Given the description of an element on the screen output the (x, y) to click on. 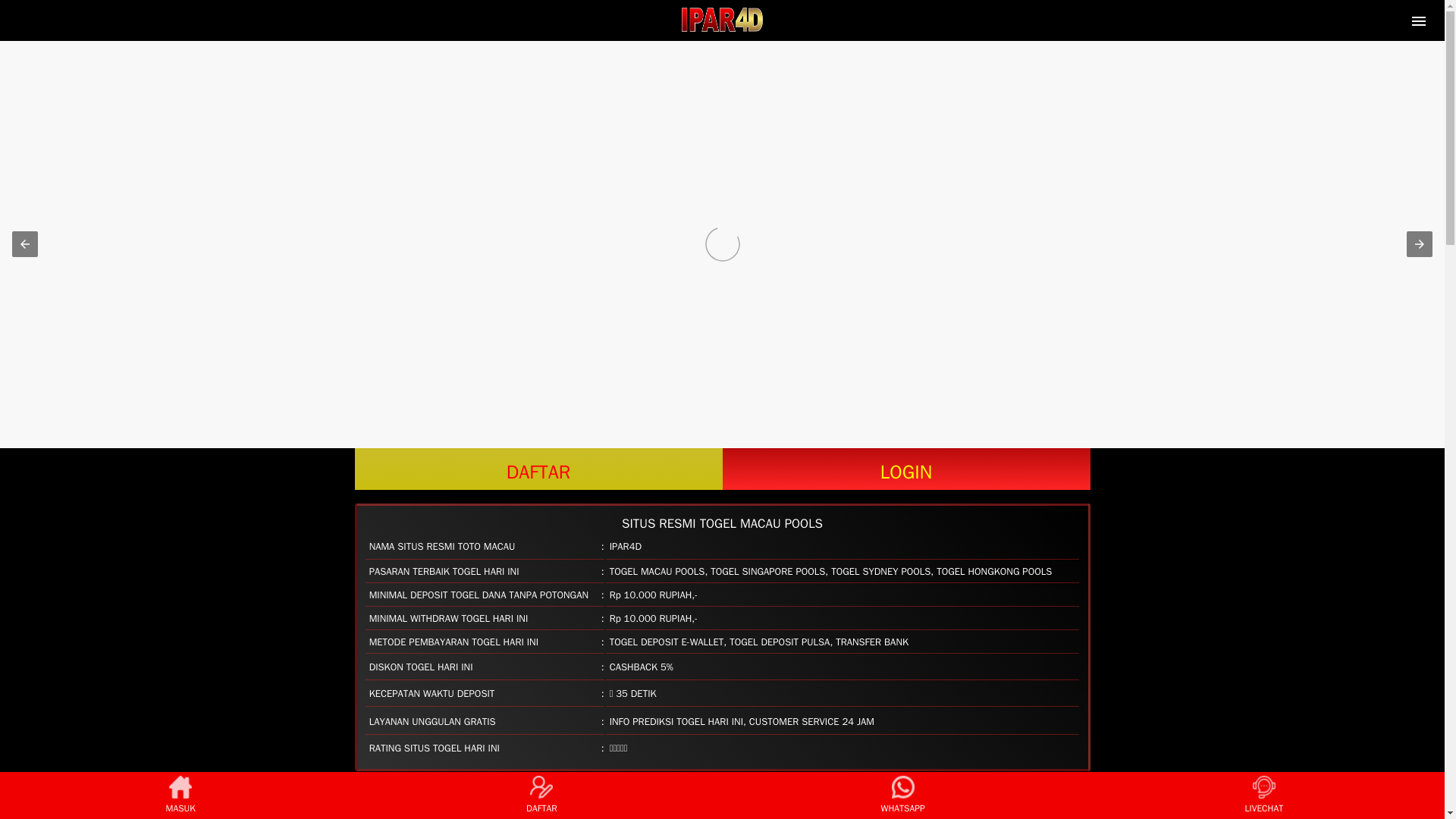
WHATSAPP (903, 794)
LOGIN (905, 468)
MASUK (180, 794)
DAFTAR (538, 468)
DAFTAR (541, 794)
LIVECHAT (1263, 794)
